Given the description of an element on the screen output the (x, y) to click on. 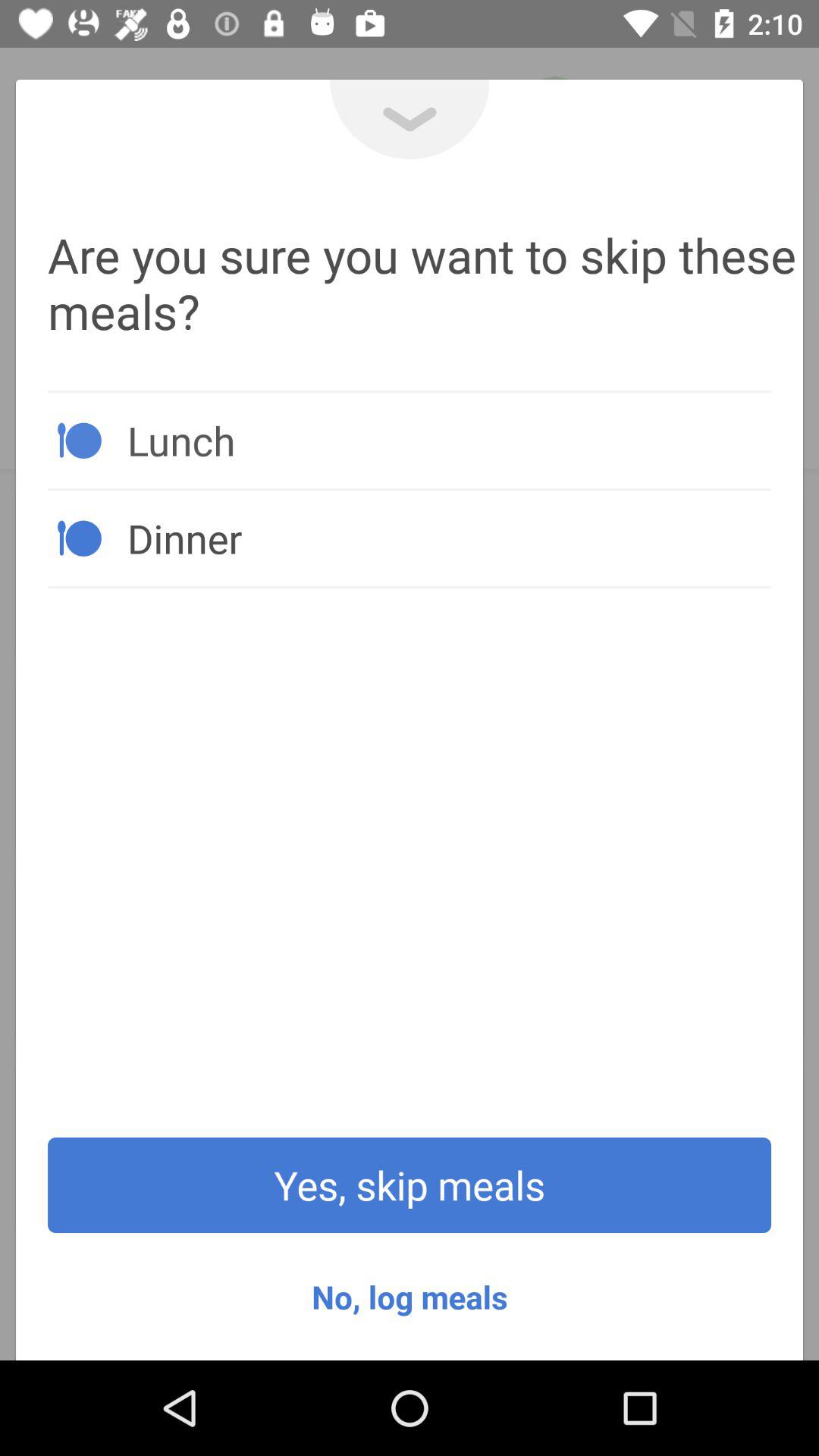
tap the dinner item (449, 537)
